Given the description of an element on the screen output the (x, y) to click on. 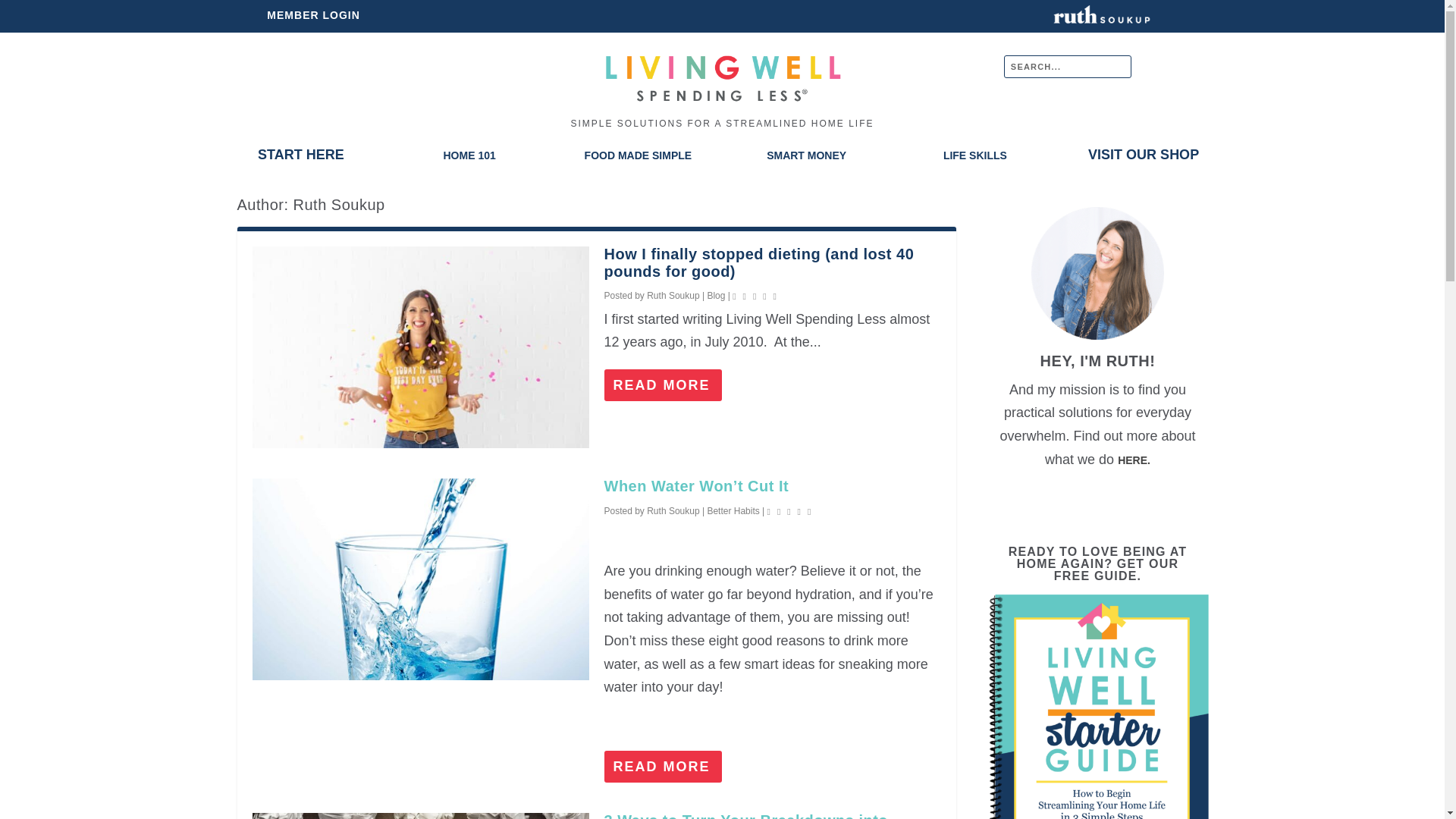
Rating: 0.00 (756, 295)
Ruth Soukup (672, 511)
Better Habits (732, 511)
Search (21, 10)
Blog (715, 295)
Rating: 0.00 (791, 510)
3 Ways to Turn Your Breakdowns into Breakthroughs (746, 815)
3 Ways to Turn Your Breakdowns into Breakthroughs (419, 816)
Posts by Ruth Soukup (672, 511)
Ruth Soukup (672, 295)
READ MORE (663, 766)
READ MORE (663, 385)
Posts by Ruth Soukup (672, 295)
